Given the description of an element on the screen output the (x, y) to click on. 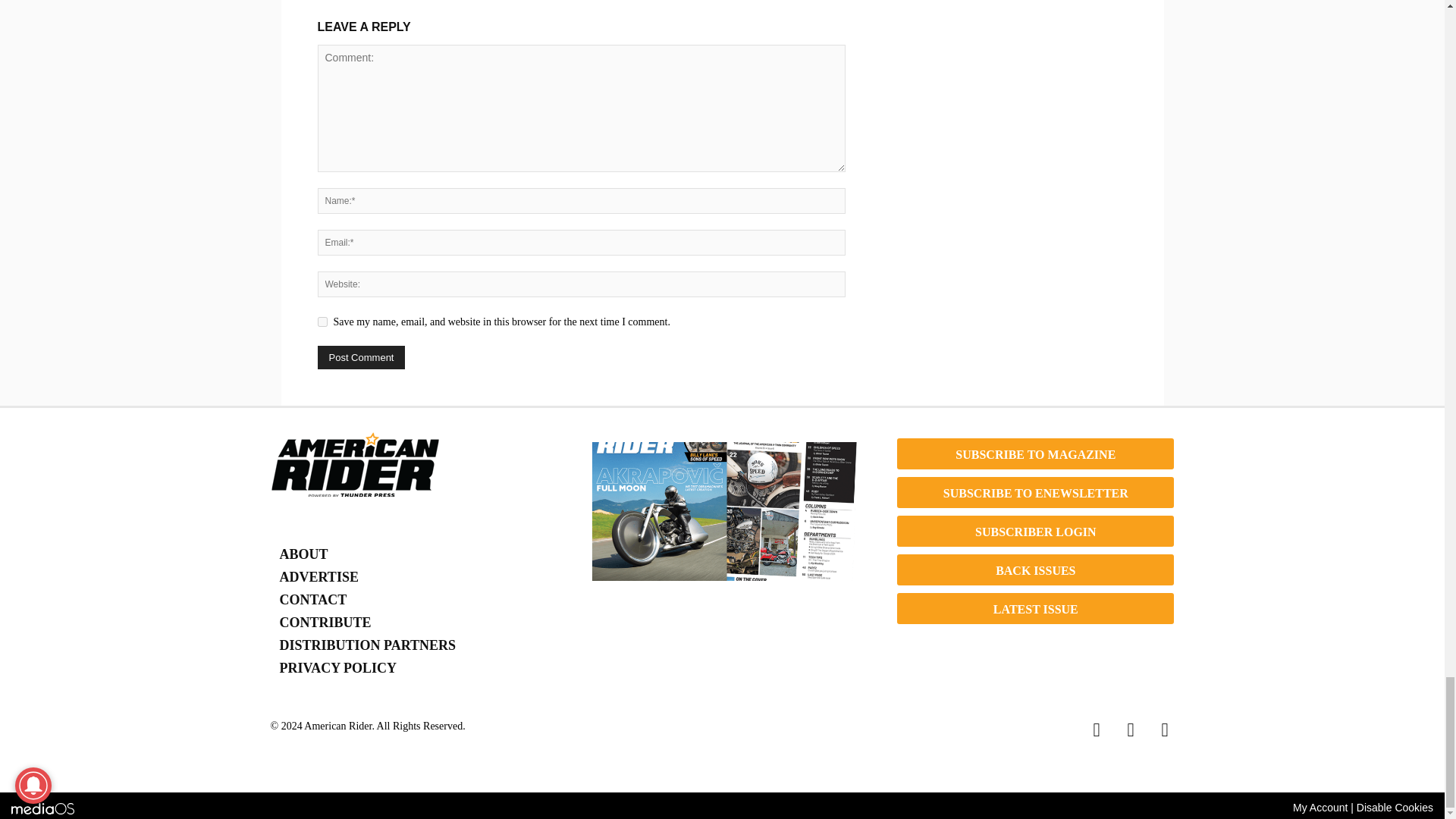
yes (321, 321)
Post Comment (360, 357)
